Given the description of an element on the screen output the (x, y) to click on. 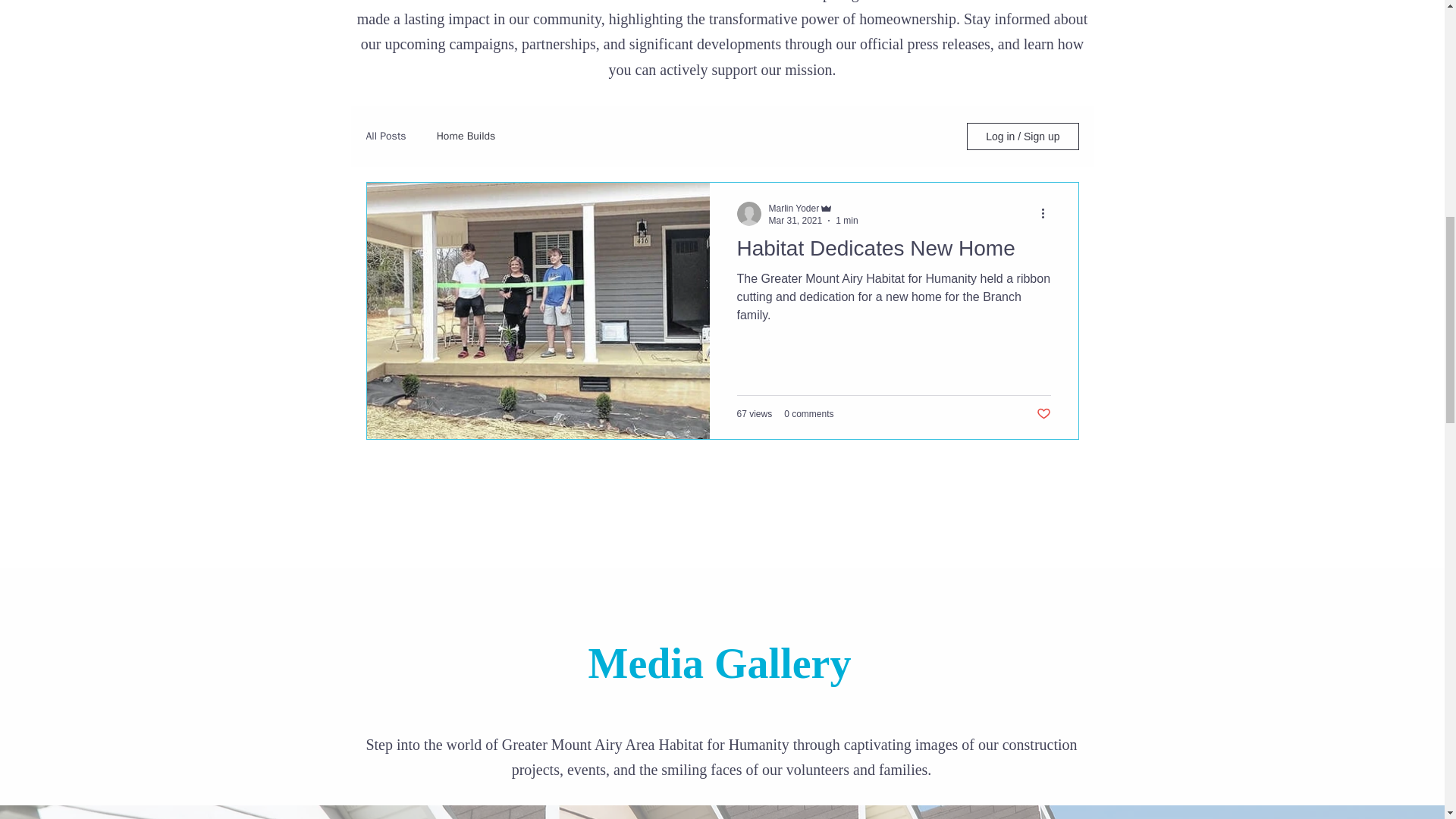
Home Builds (466, 136)
1 min (846, 220)
Marlin  Yoder (793, 208)
Mar 31, 2021 (795, 220)
All Posts (385, 136)
0 comments (808, 413)
Habitat Dedicates New Home (893, 252)
Post not marked as liked (1042, 414)
